Given the description of an element on the screen output the (x, y) to click on. 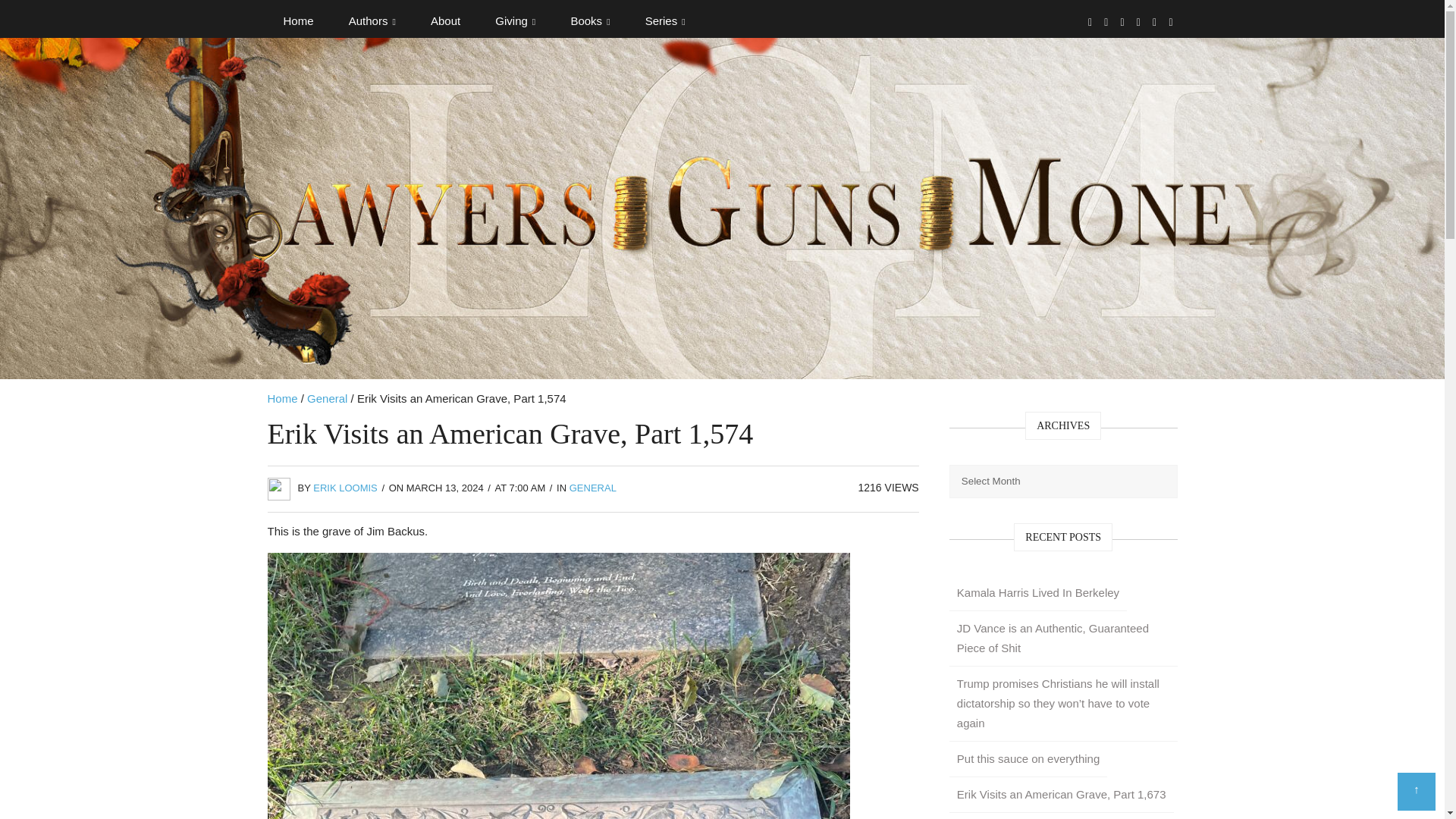
Giving (515, 21)
Authors (372, 21)
About (445, 21)
Home (297, 21)
Posts by Erik Loomis (345, 487)
Books (590, 21)
